Given the description of an element on the screen output the (x, y) to click on. 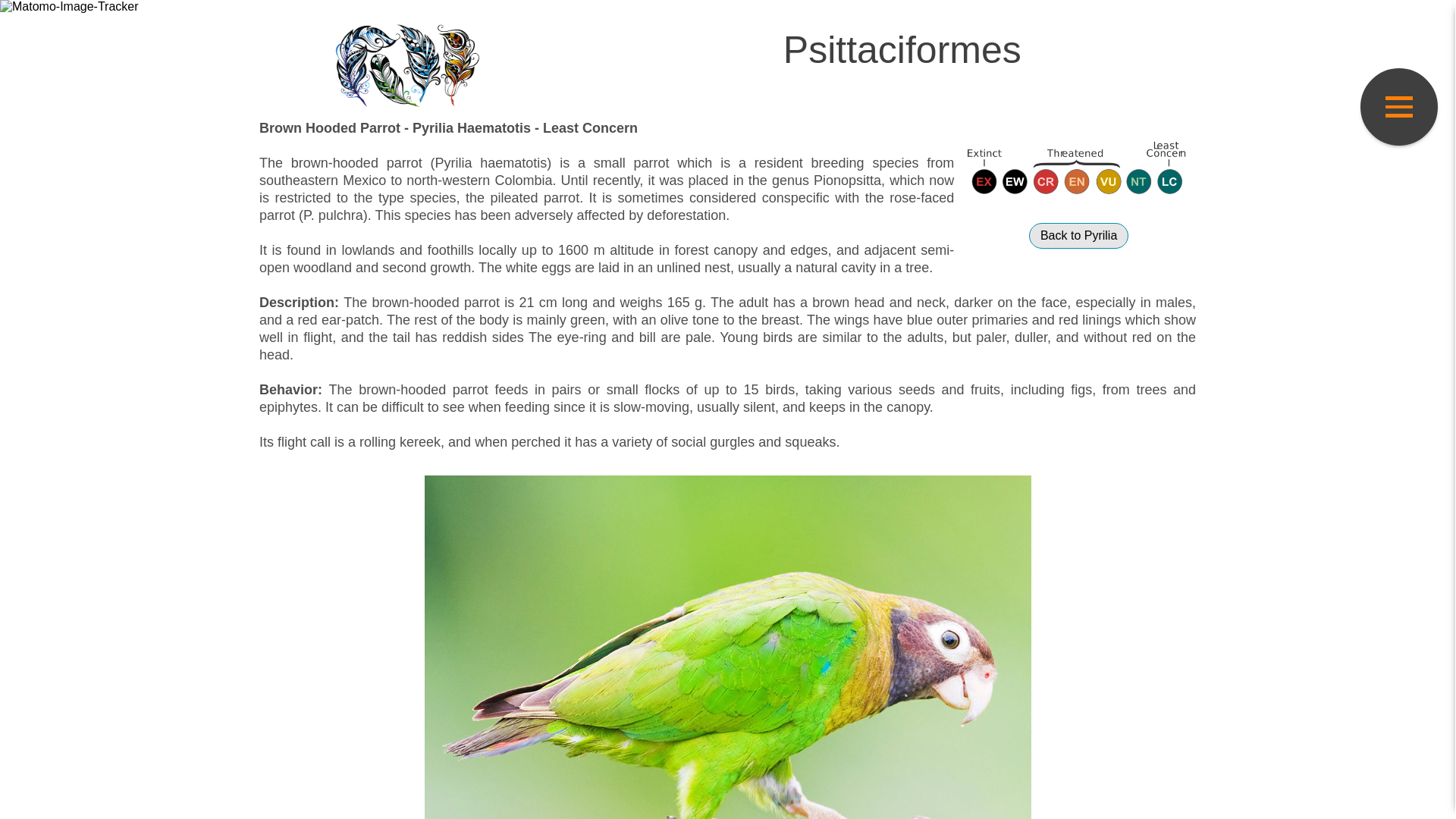
show menu (1398, 106)
Back to Pyrilia (1078, 235)
Species Status (1077, 167)
Pyrilia (1078, 235)
